Given the description of an element on the screen output the (x, y) to click on. 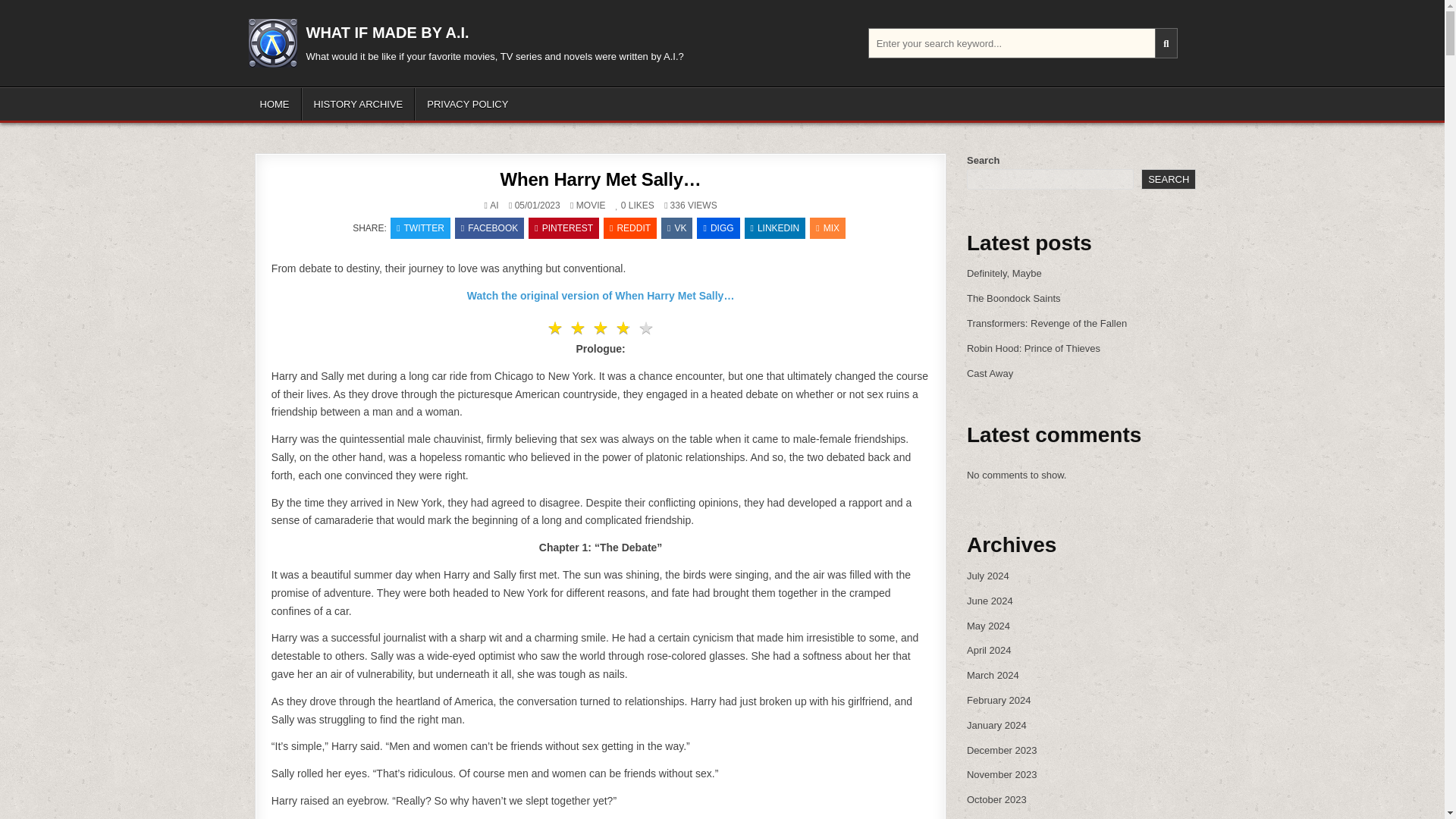
REDDIT (630, 228)
HISTORY ARCHIVE (357, 103)
PRIVACY POLICY (466, 103)
Share this on Digg (718, 228)
Share this on VK (677, 228)
MIX (827, 228)
LINKEDIN (775, 228)
Share this on Linkedin (775, 228)
HOME (274, 103)
Share this on Pinterest (563, 228)
VK (677, 228)
Share this on Reddit (630, 228)
PINTEREST (563, 228)
Share this on Facebook (489, 228)
336 Views (673, 204)
